Given the description of an element on the screen output the (x, y) to click on. 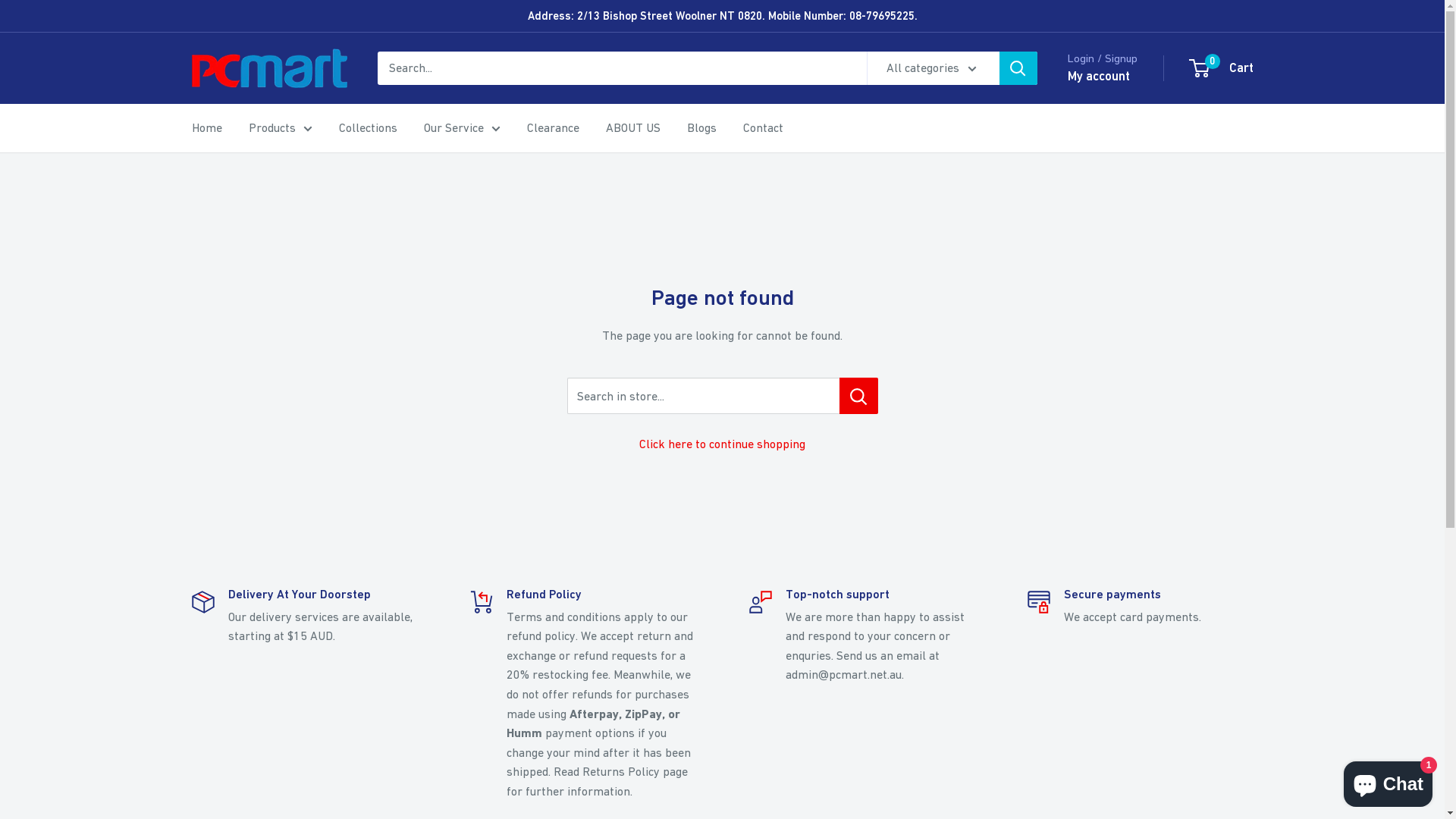
Shopify online store chat Element type: hover (1388, 780)
0
Cart Element type: text (1221, 68)
Contact Element type: text (763, 127)
PC MART Element type: text (268, 67)
Clearance Element type: text (552, 127)
Collections Element type: text (367, 127)
Home Element type: text (206, 127)
My account Element type: text (1098, 76)
Products Element type: text (280, 127)
ABOUT US Element type: text (632, 127)
Blogs Element type: text (701, 127)
Our Service Element type: text (461, 127)
Click here to continue shopping Element type: text (722, 443)
